Given the description of an element on the screen output the (x, y) to click on. 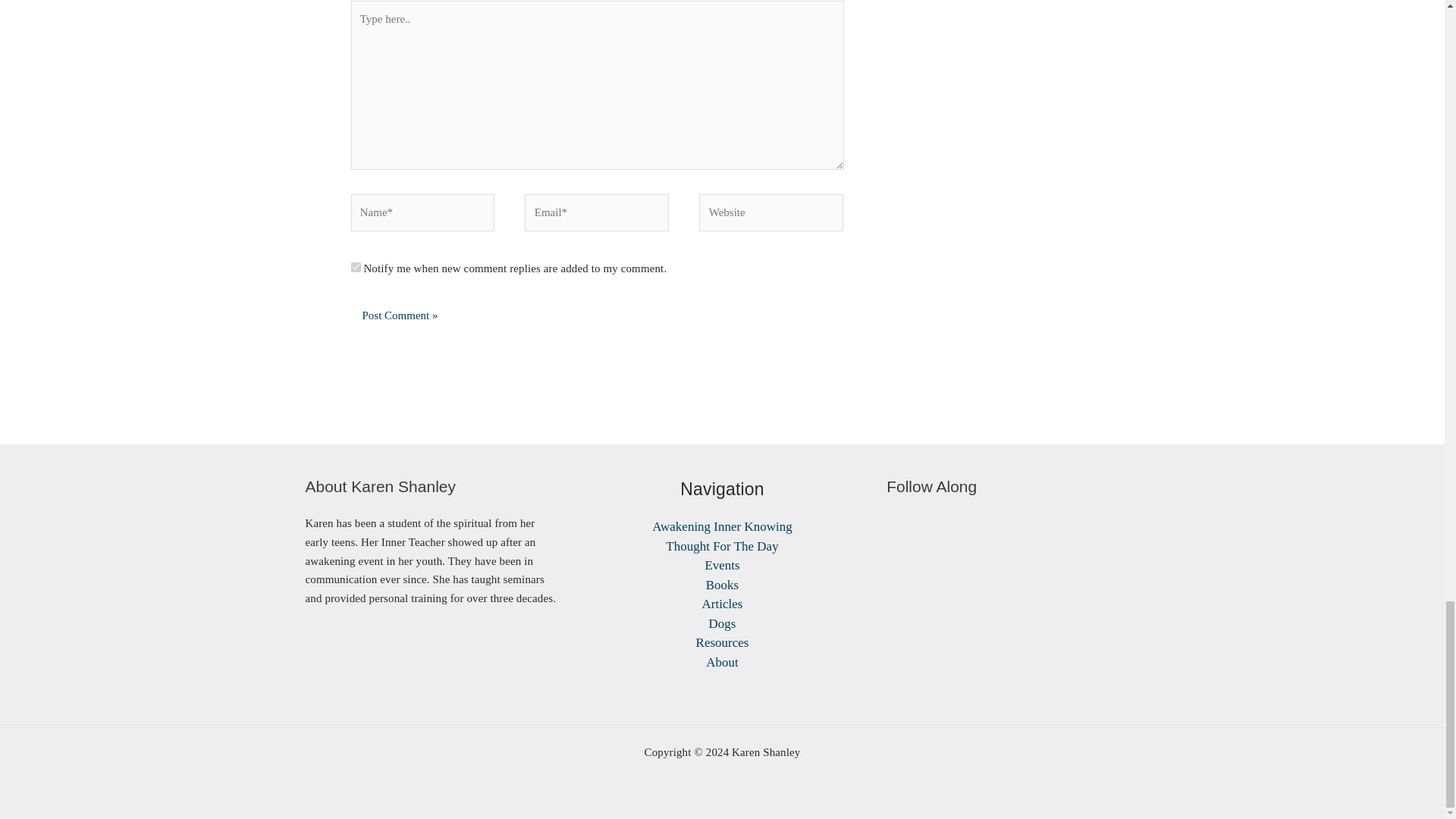
1 (354, 266)
